Given the description of an element on the screen output the (x, y) to click on. 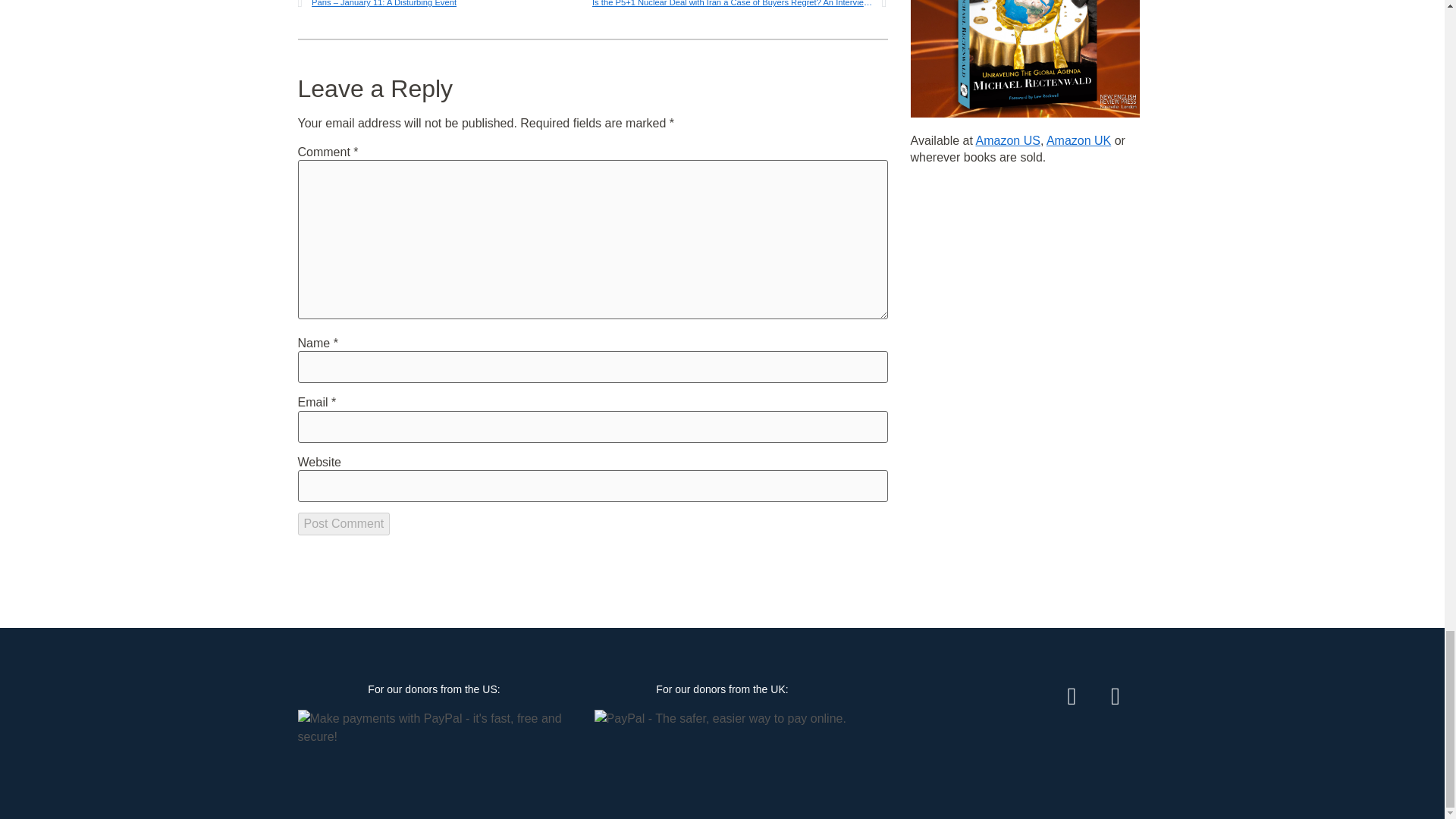
Post Comment (343, 523)
